Given the description of an element on the screen output the (x, y) to click on. 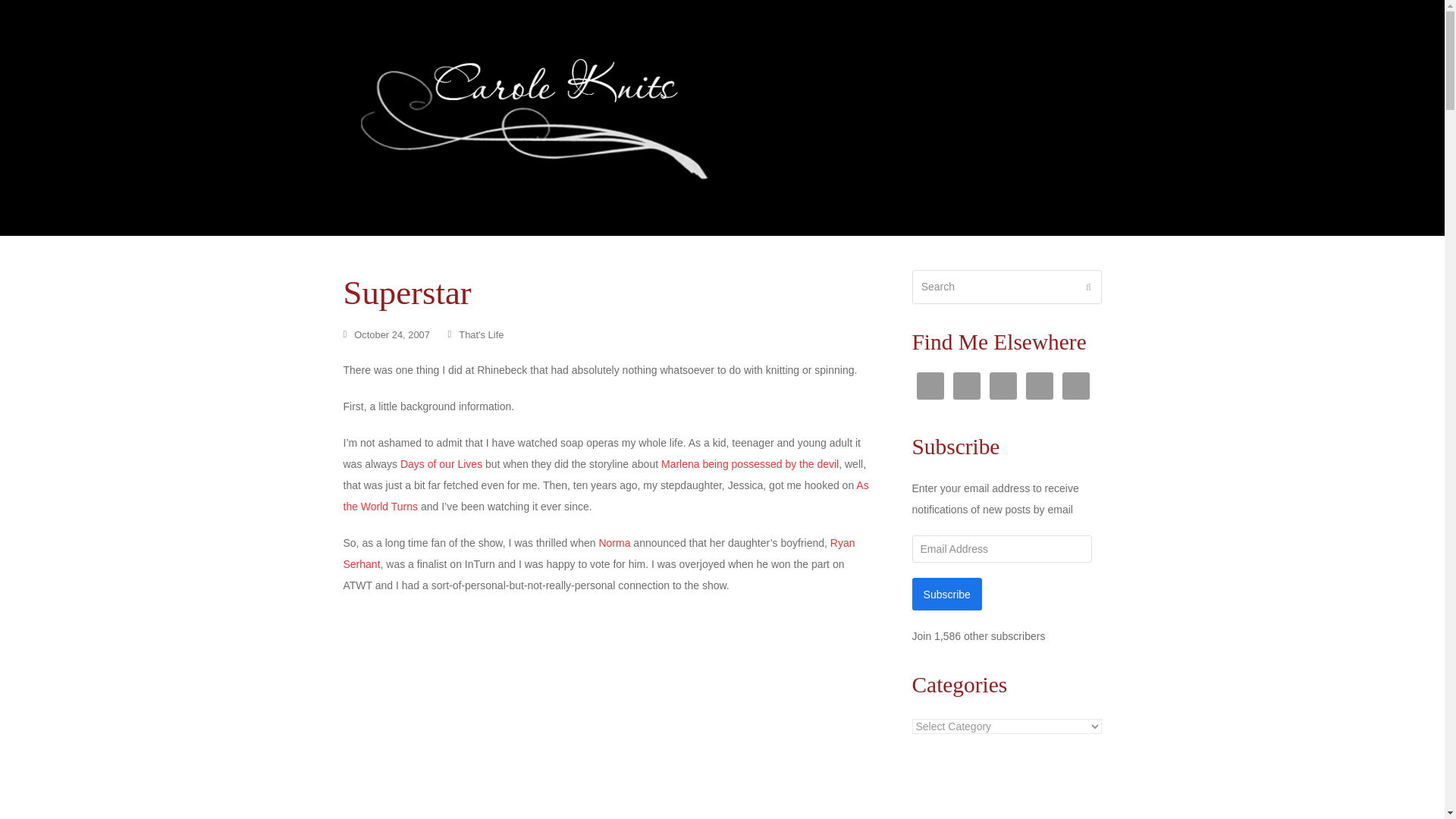
Days of our Lives (440, 463)
That's Life (480, 334)
Marlena being possessed by the devil (749, 463)
Ryan Serhant (598, 553)
As the World Turns (604, 495)
Norma (614, 542)
